Given the description of an element on the screen output the (x, y) to click on. 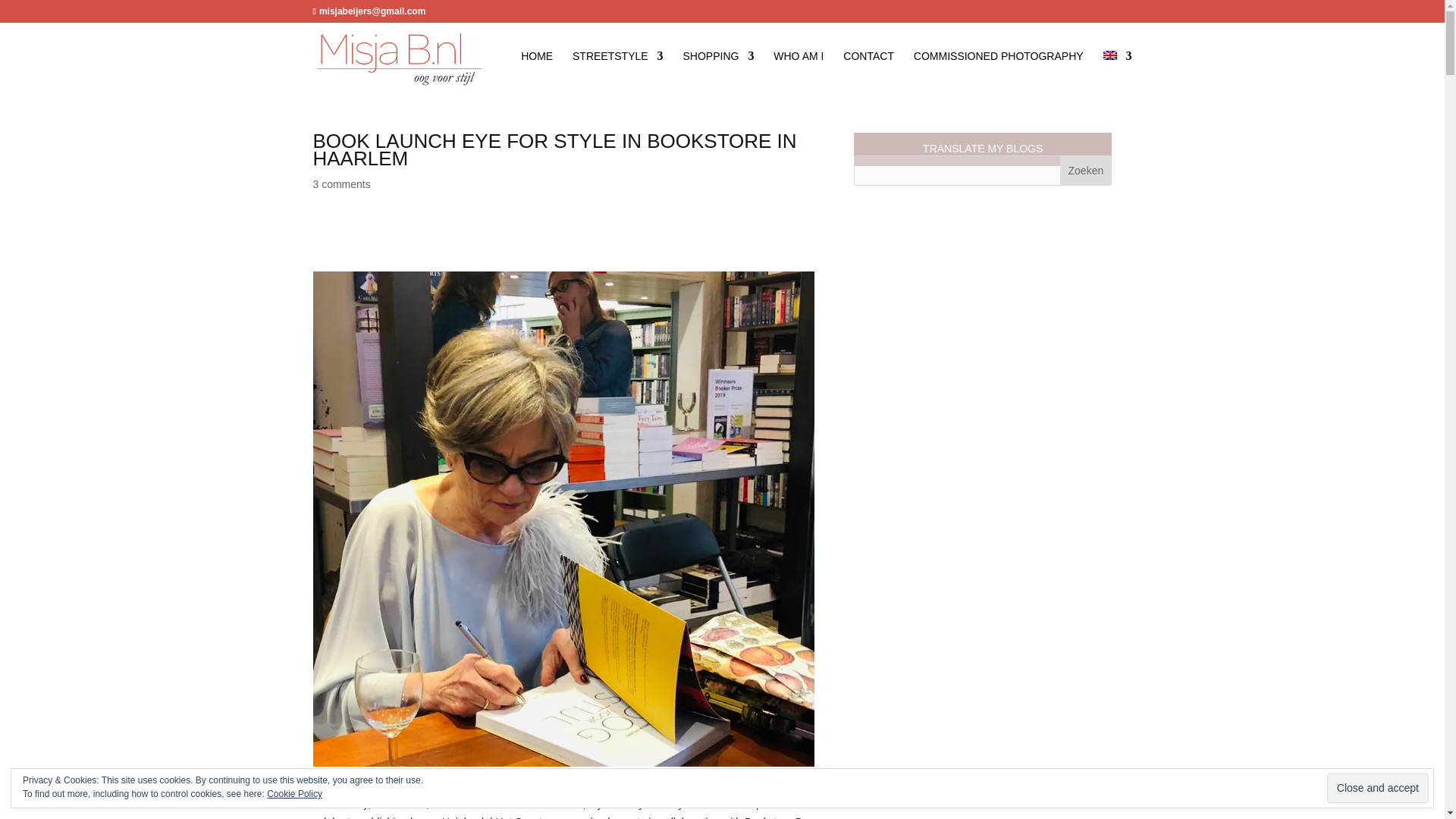
SHOPPING (718, 69)
WHO AM I (798, 69)
STREETSTYLE (617, 69)
3 comments (341, 184)
COMMISSIONED PHOTOGRAPHY (998, 69)
Close and accept (1377, 788)
CONTACT (868, 69)
